Given the description of an element on the screen output the (x, y) to click on. 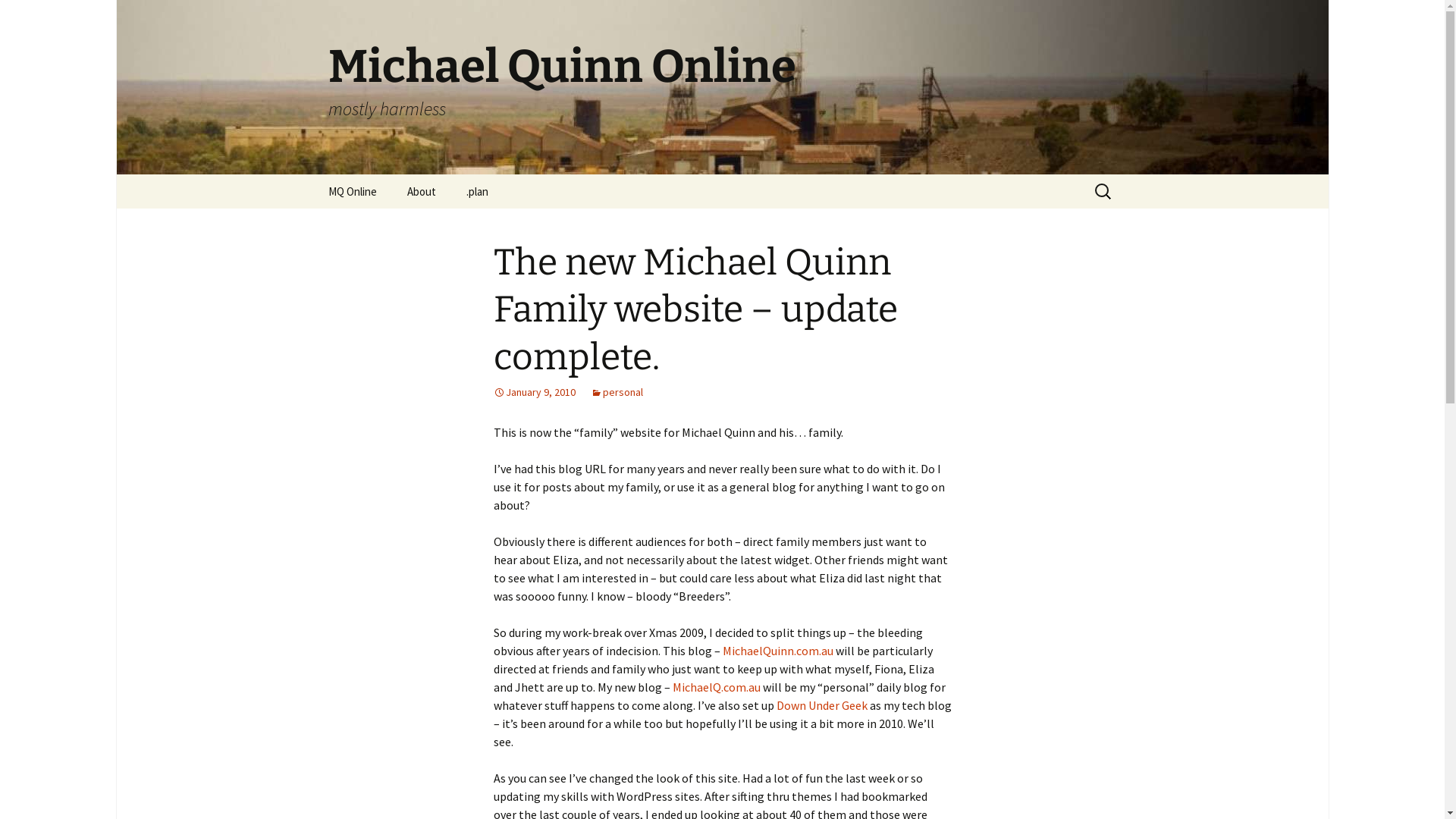
Michael Quinn Online
mostly harmless Element type: text (721, 87)
MQ Online Element type: text (351, 191)
personal Element type: text (615, 391)
About Element type: text (420, 191)
January 9, 2010 Element type: text (533, 391)
Search Element type: text (18, 16)
Down Under Geek Element type: text (821, 704)
Skip to content Element type: text (312, 173)
.plan Element type: text (476, 191)
MichaelQ.com.au Element type: text (715, 686)
MichaelQuinn.com.au Element type: text (776, 650)
